Given the description of an element on the screen output the (x, y) to click on. 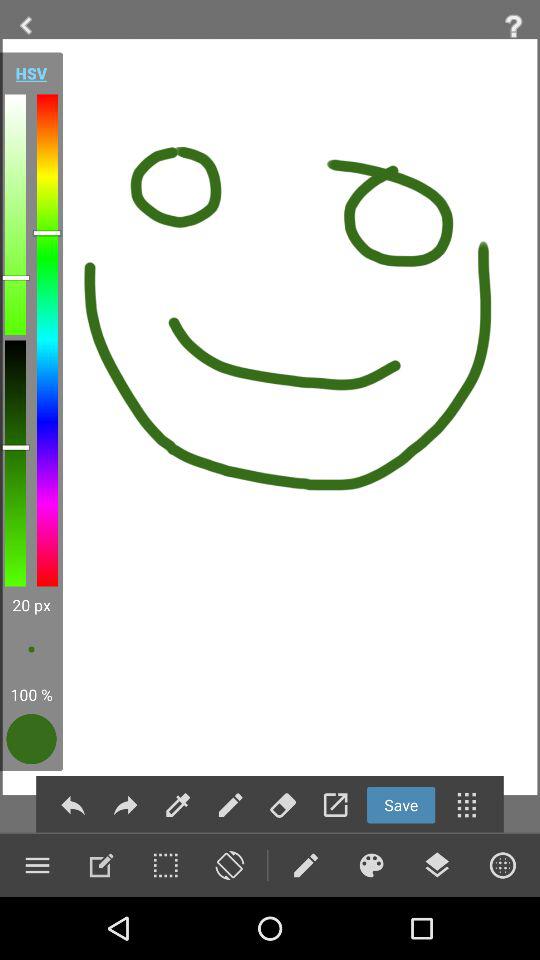
rotate icon (229, 865)
